Given the description of an element on the screen output the (x, y) to click on. 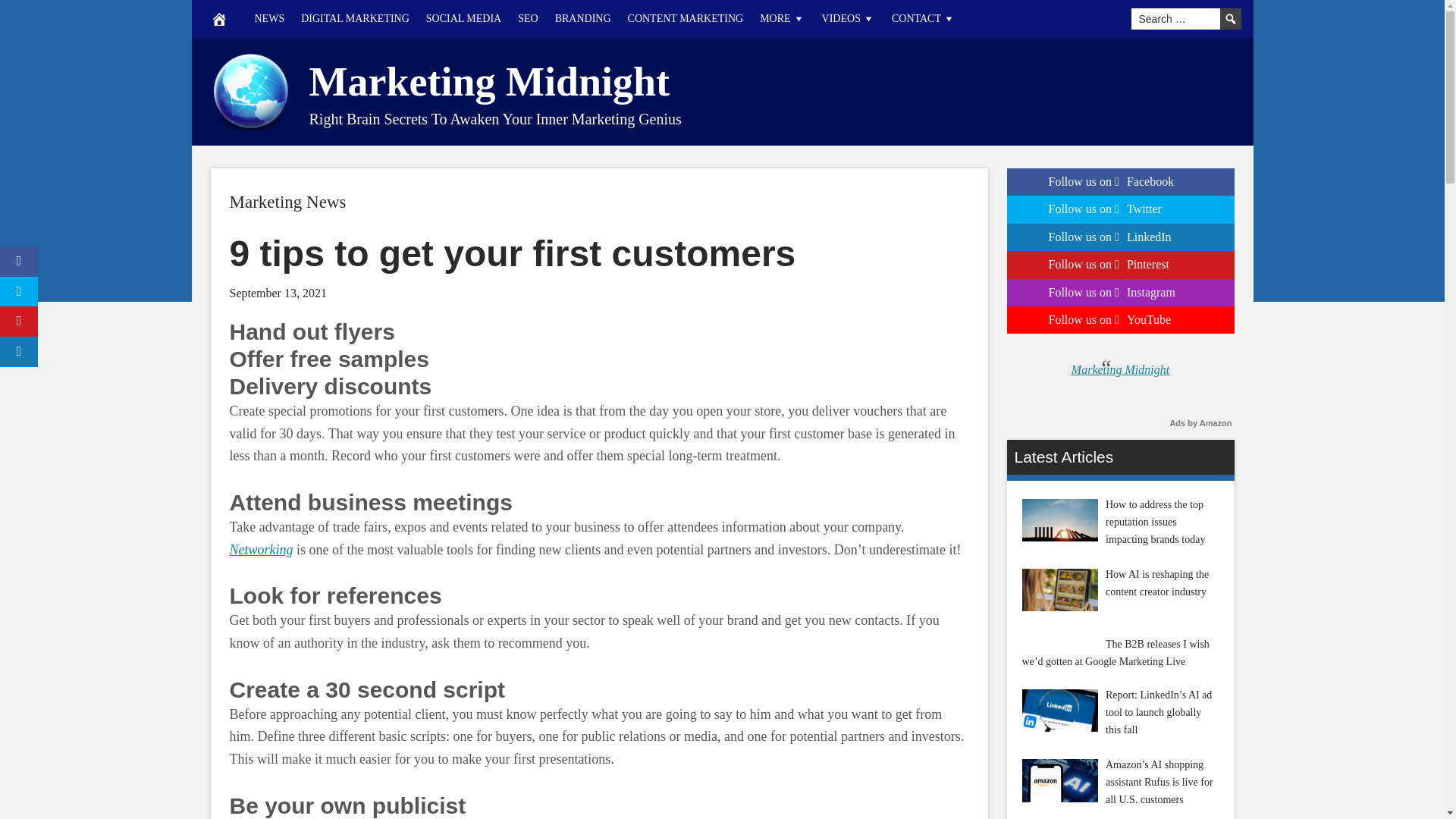
DIGITAL MARKETING (354, 18)
NEWS (269, 18)
SEO (527, 18)
CONTENT MARKETING (686, 18)
MORE (781, 18)
Marketing News (287, 201)
BRANDING (583, 18)
SOCIAL MEDIA (463, 18)
VIDEOS (848, 18)
